Given the description of an element on the screen output the (x, y) to click on. 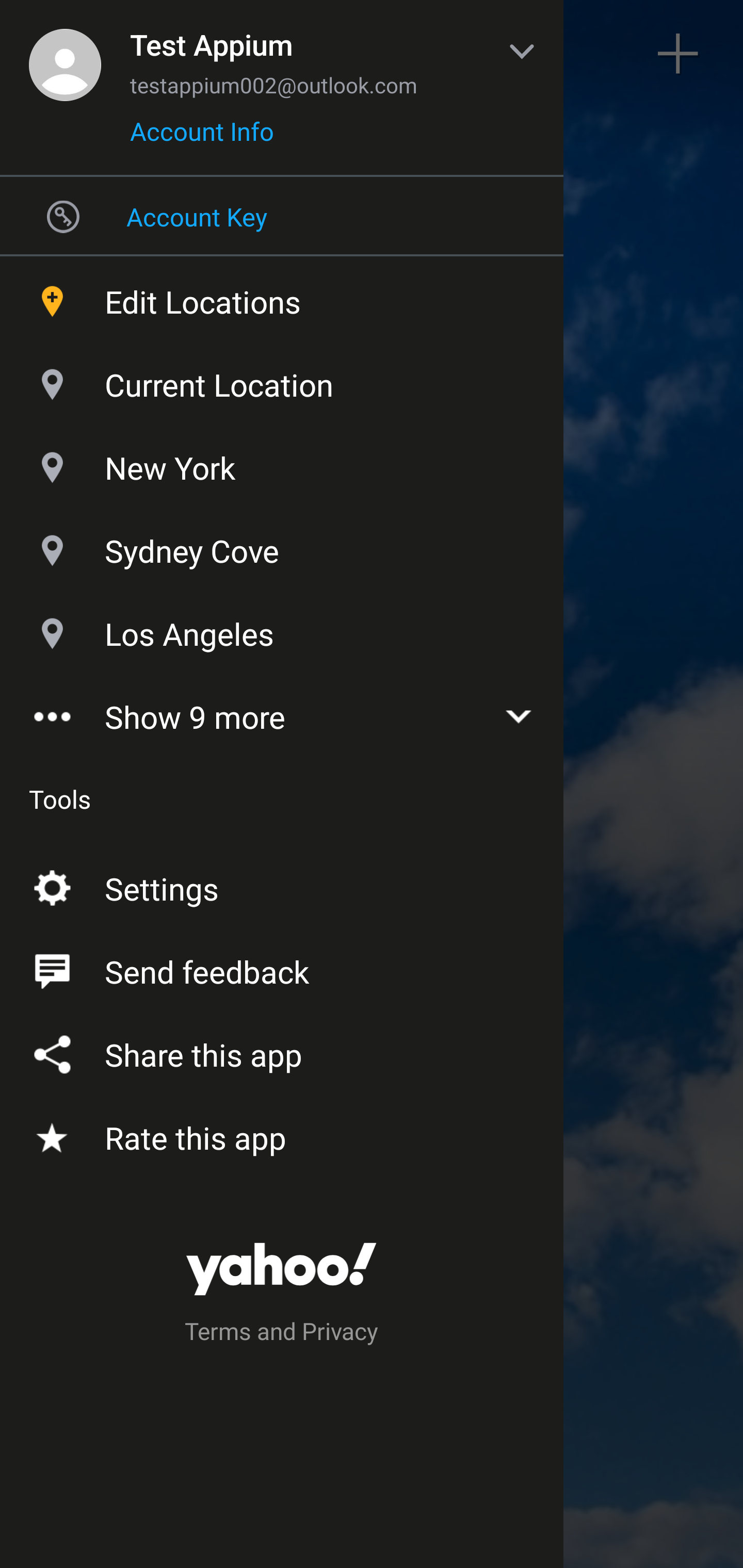
Sidebar (64, 54)
Account Info (202, 137)
Account Key (281, 216)
Edit Locations (281, 296)
Current Location (281, 379)
New York (281, 462)
Sydney Cove (281, 546)
Los Angeles (281, 629)
Settings (281, 884)
Send feedback (281, 967)
Share this app (281, 1050)
Terms and Privacy Terms and privacy button (281, 1334)
